Given the description of an element on the screen output the (x, y) to click on. 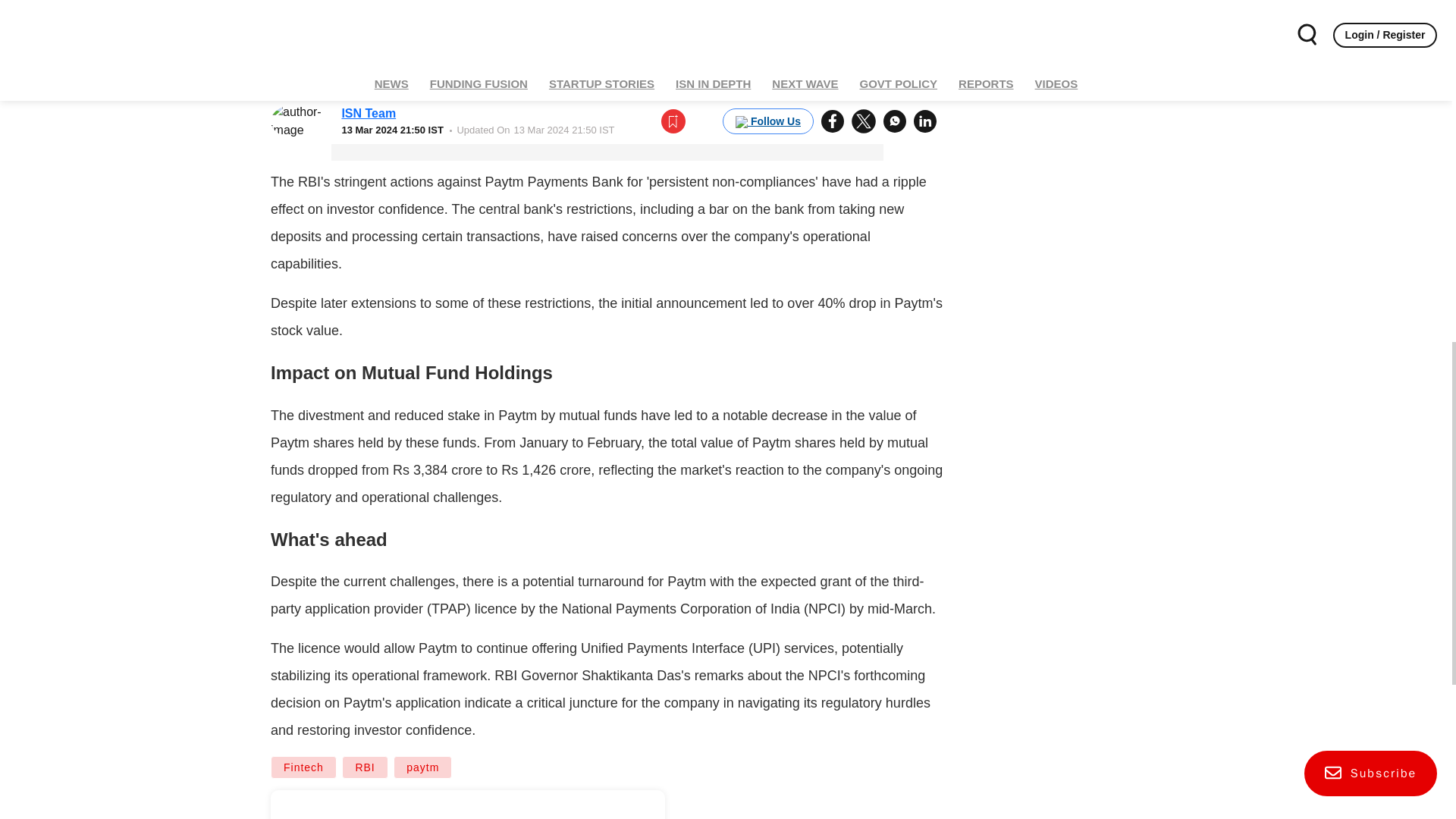
paytm (422, 766)
Fintech (303, 766)
RBI (364, 766)
